Given the description of an element on the screen output the (x, y) to click on. 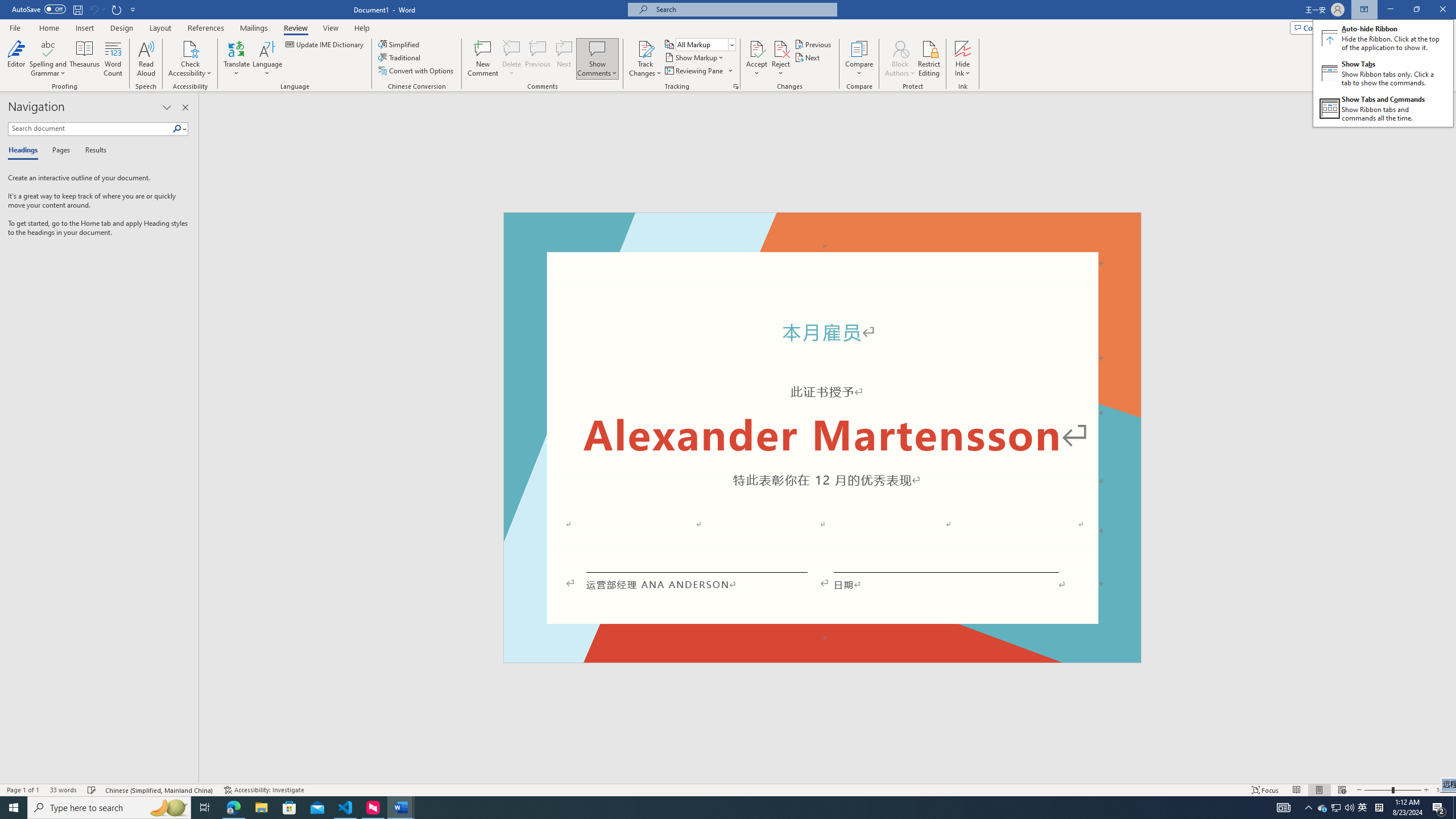
Start (13, 807)
Reject (780, 58)
Q2790: 100% (1349, 807)
Track Changes (1322, 807)
Delete (644, 58)
Block Authors (511, 48)
Show Comments (900, 58)
Class: MsoCommandBar (597, 48)
Check Accessibility (728, 789)
